Given the description of an element on the screen output the (x, y) to click on. 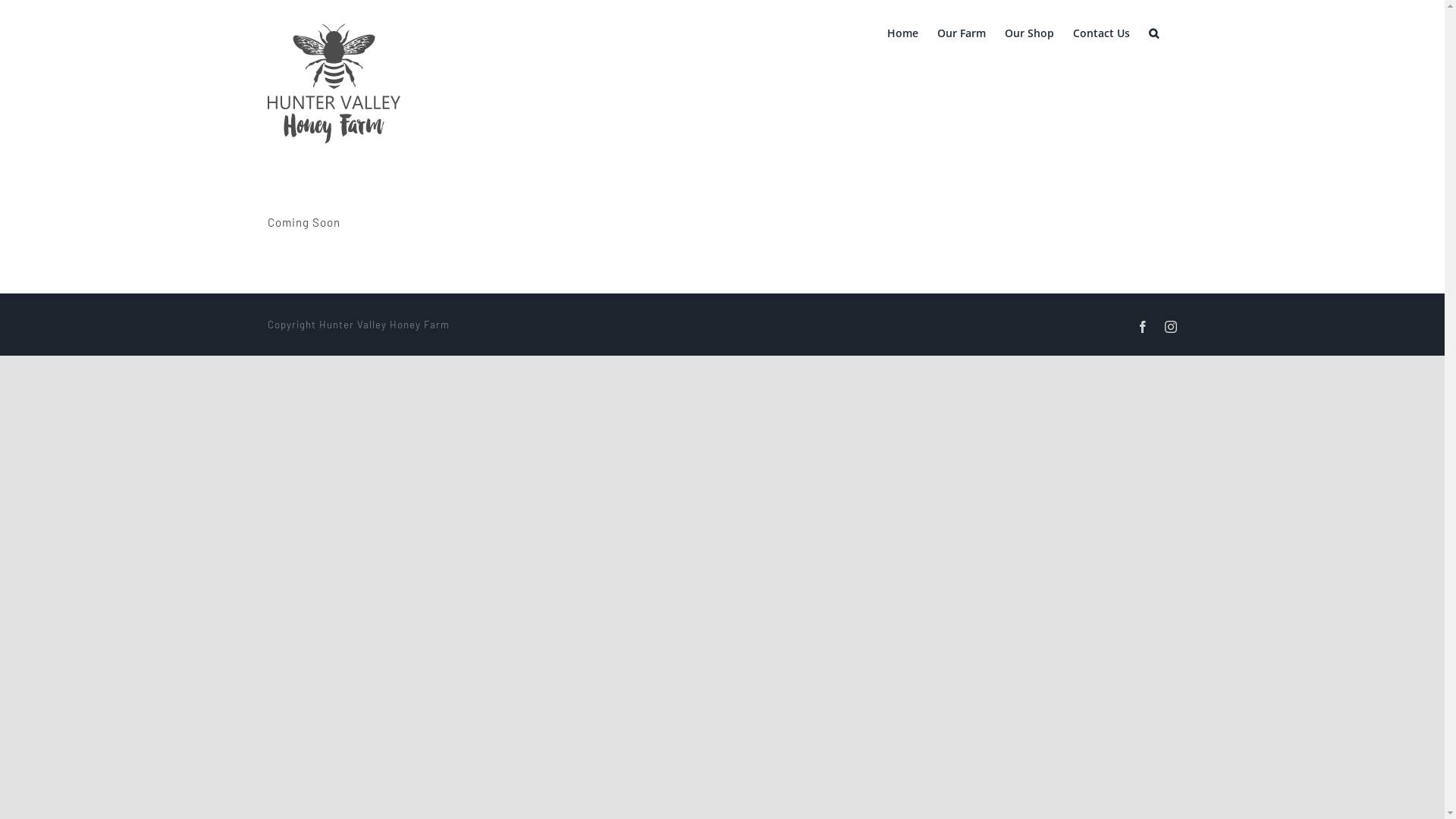
Home Element type: text (902, 31)
Contact Us Element type: text (1100, 31)
Our Shop Element type: text (1028, 31)
Search Element type: hover (1152, 31)
Instagram Element type: text (1170, 326)
Facebook Element type: text (1141, 326)
Our Farm Element type: text (961, 31)
